Given the description of an element on the screen output the (x, y) to click on. 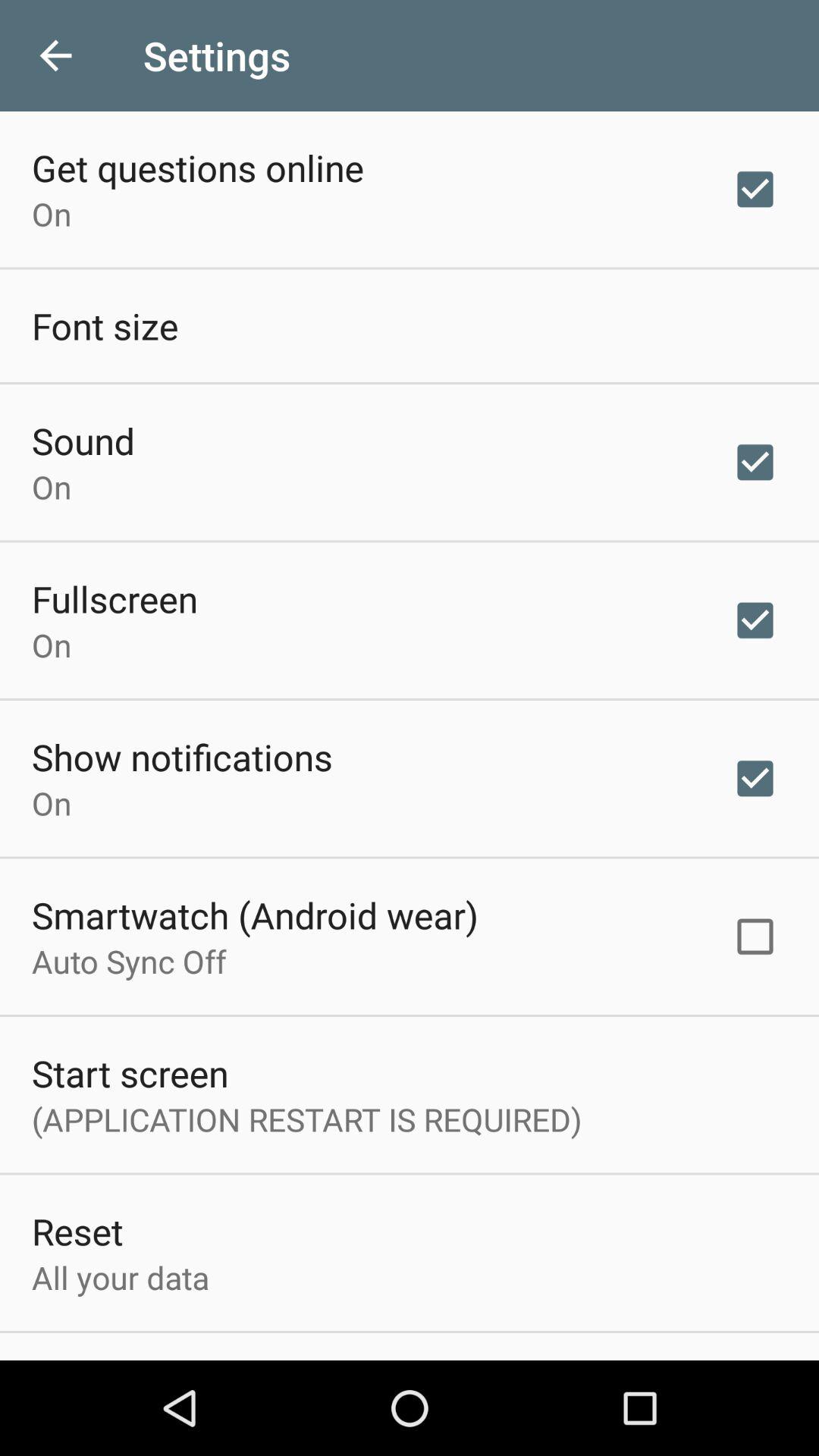
scroll until the fullscreen (114, 598)
